Given the description of an element on the screen output the (x, y) to click on. 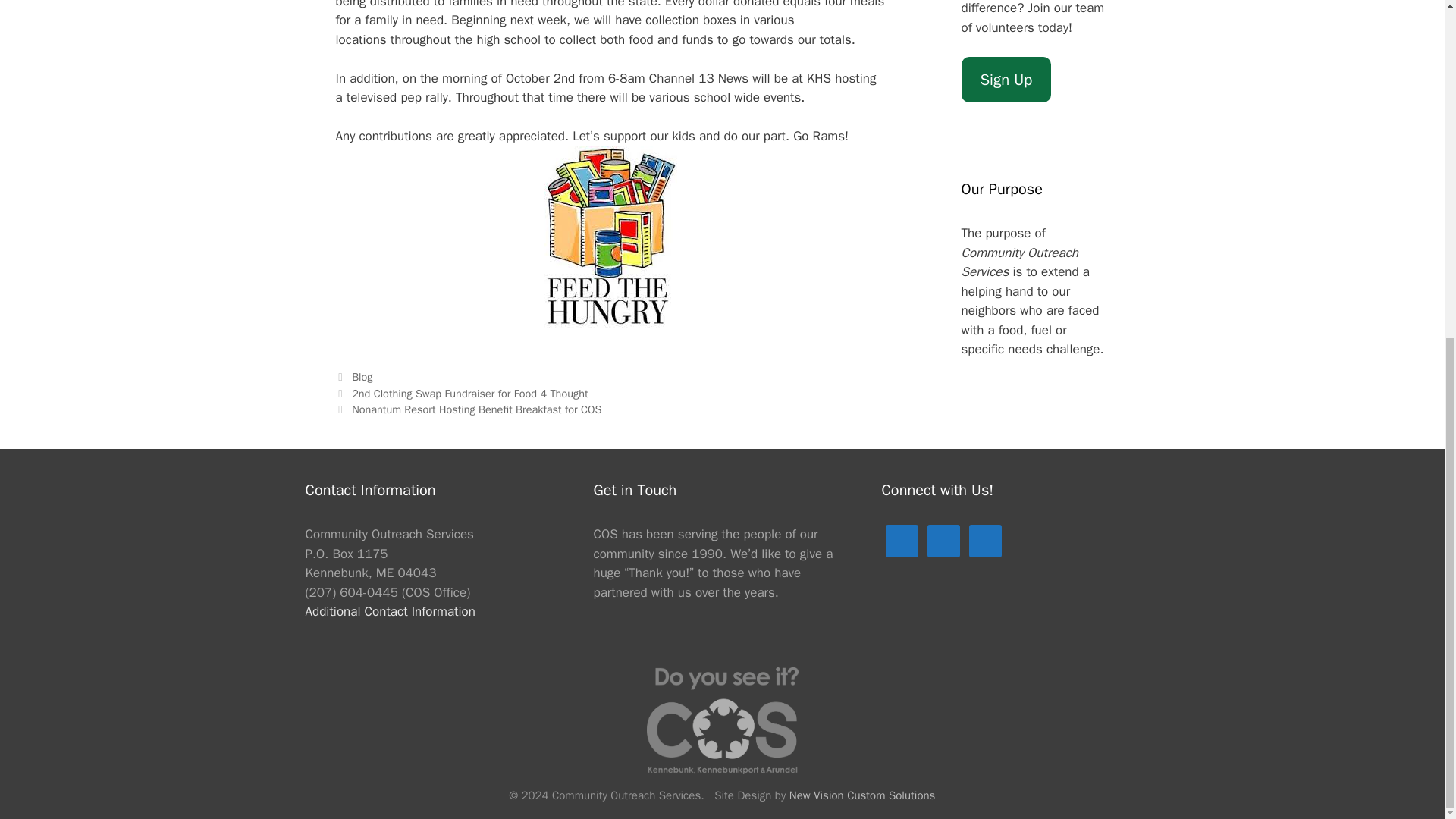
Nonantum Resort Hosting Benefit Breakfast for COS (476, 409)
Next (467, 409)
2nd Clothing Swap Fundraiser for Food 4 Thought (470, 393)
Previous (461, 393)
New Vision Custom Solutions (862, 795)
Sign Up (1005, 79)
Blog (362, 377)
Additional Contact Information (389, 611)
